Given the description of an element on the screen output the (x, y) to click on. 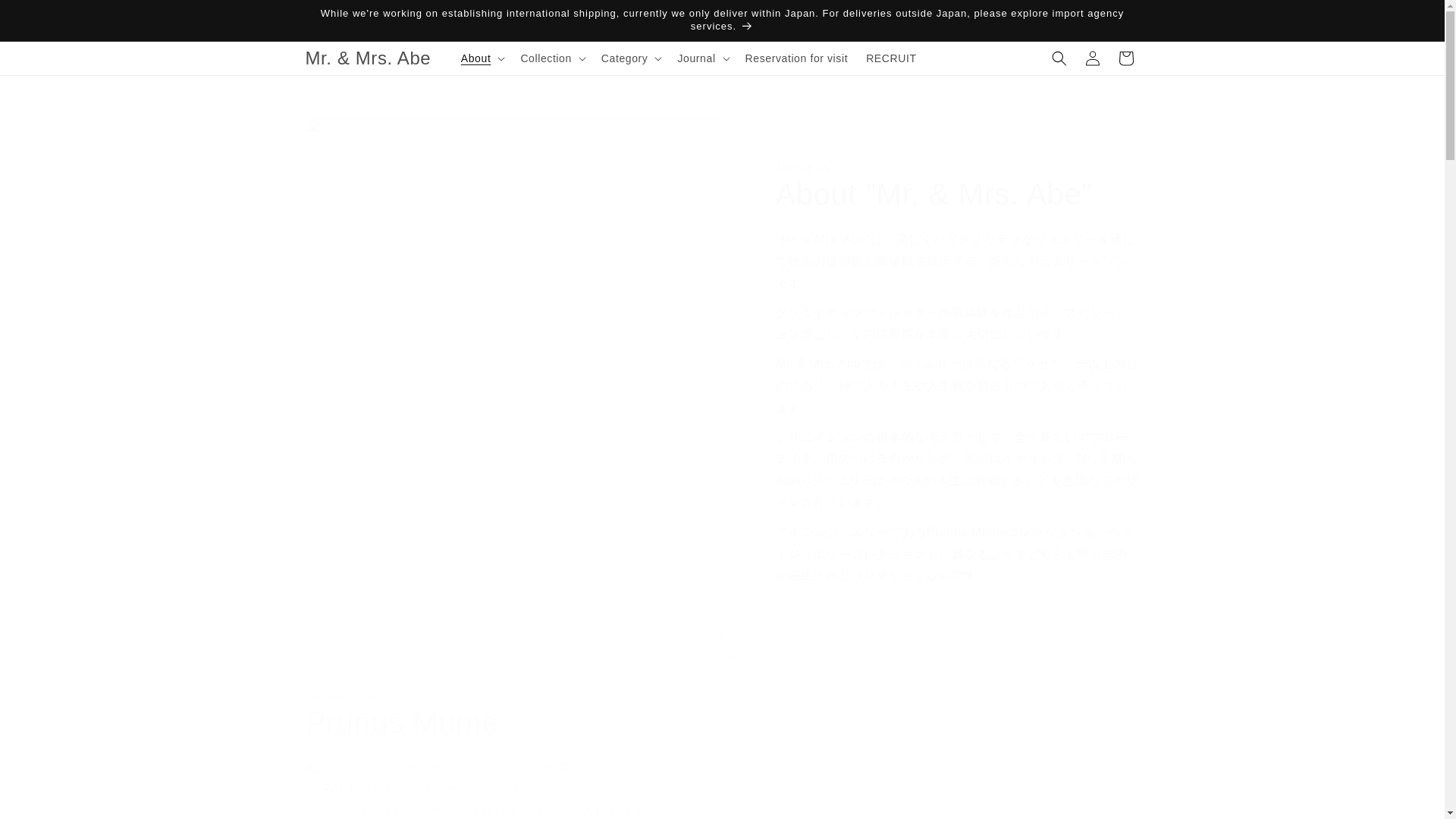
Skip to content (45, 17)
